Given the description of an element on the screen output the (x, y) to click on. 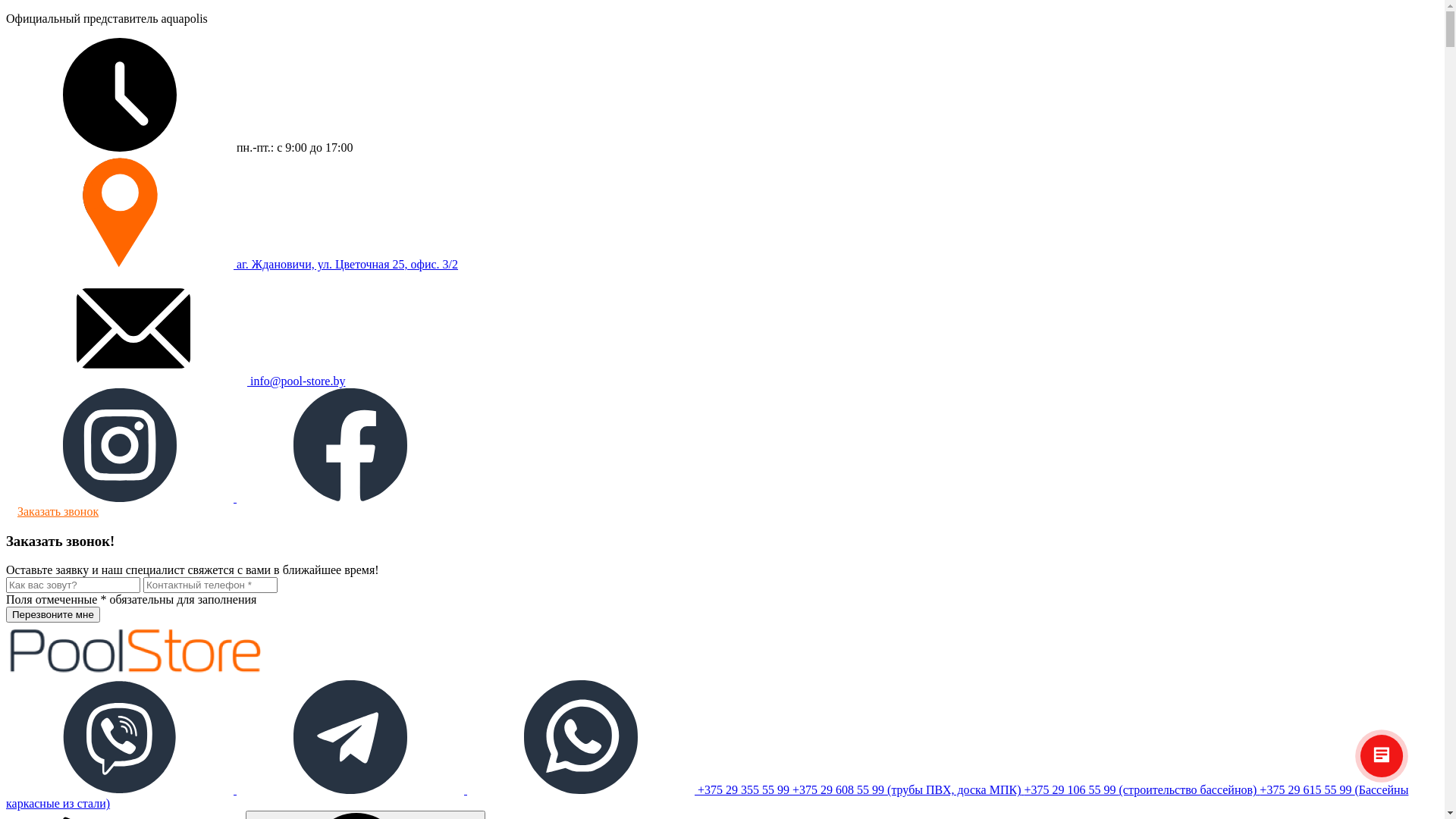
+375 29 355 55 99 Element type: text (744, 789)
info@pool-store.by Element type: text (182, 380)
